Given the description of an element on the screen output the (x, y) to click on. 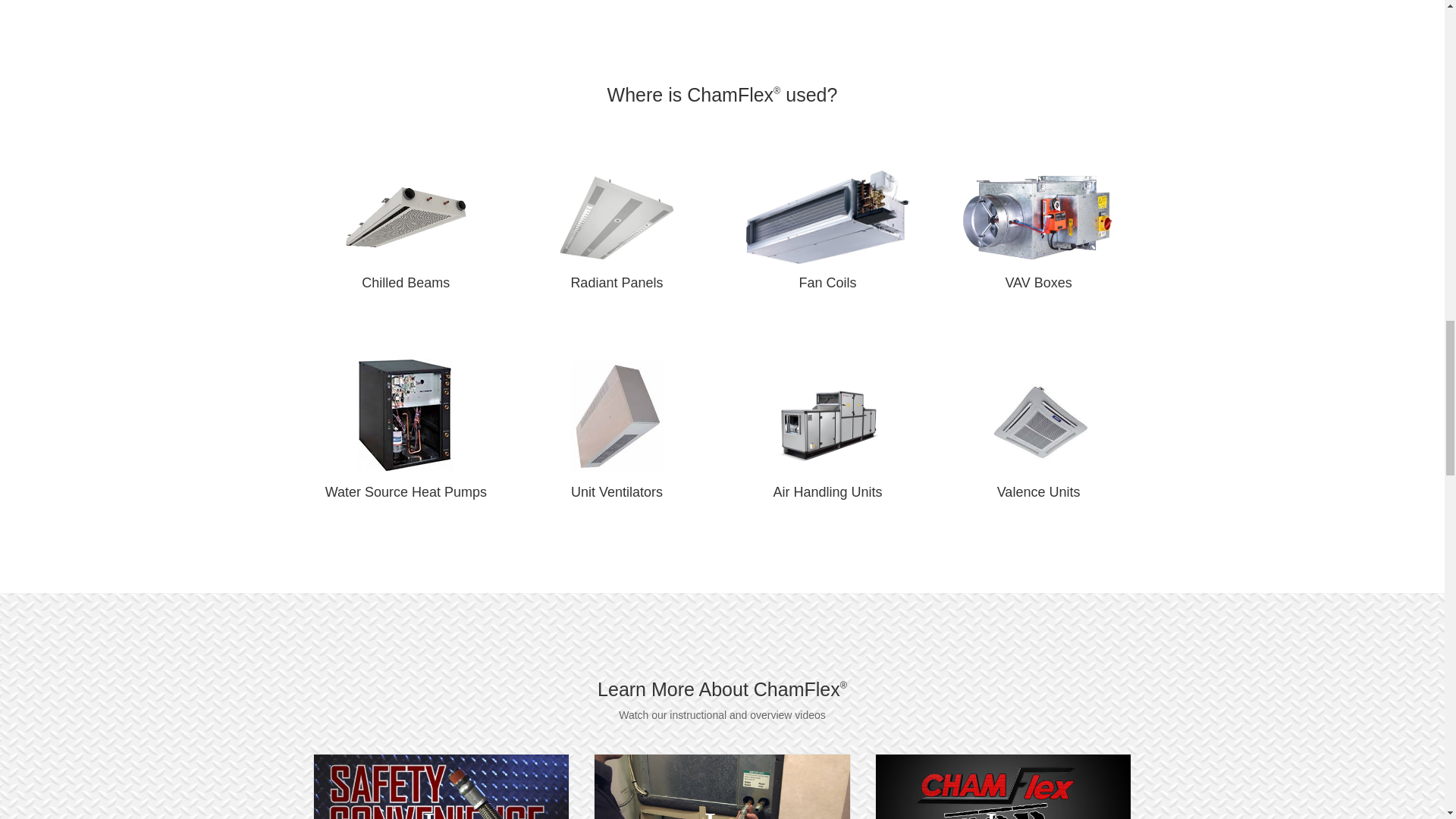
radiant-panels (616, 216)
fan-coils (827, 216)
ChamFlex Hose Introduces Push To Connect (441, 786)
chilled-beams (405, 216)
valence-unit (1038, 426)
vav-boxes (1038, 216)
air-handling-unit (827, 426)
